Given the description of an element on the screen output the (x, y) to click on. 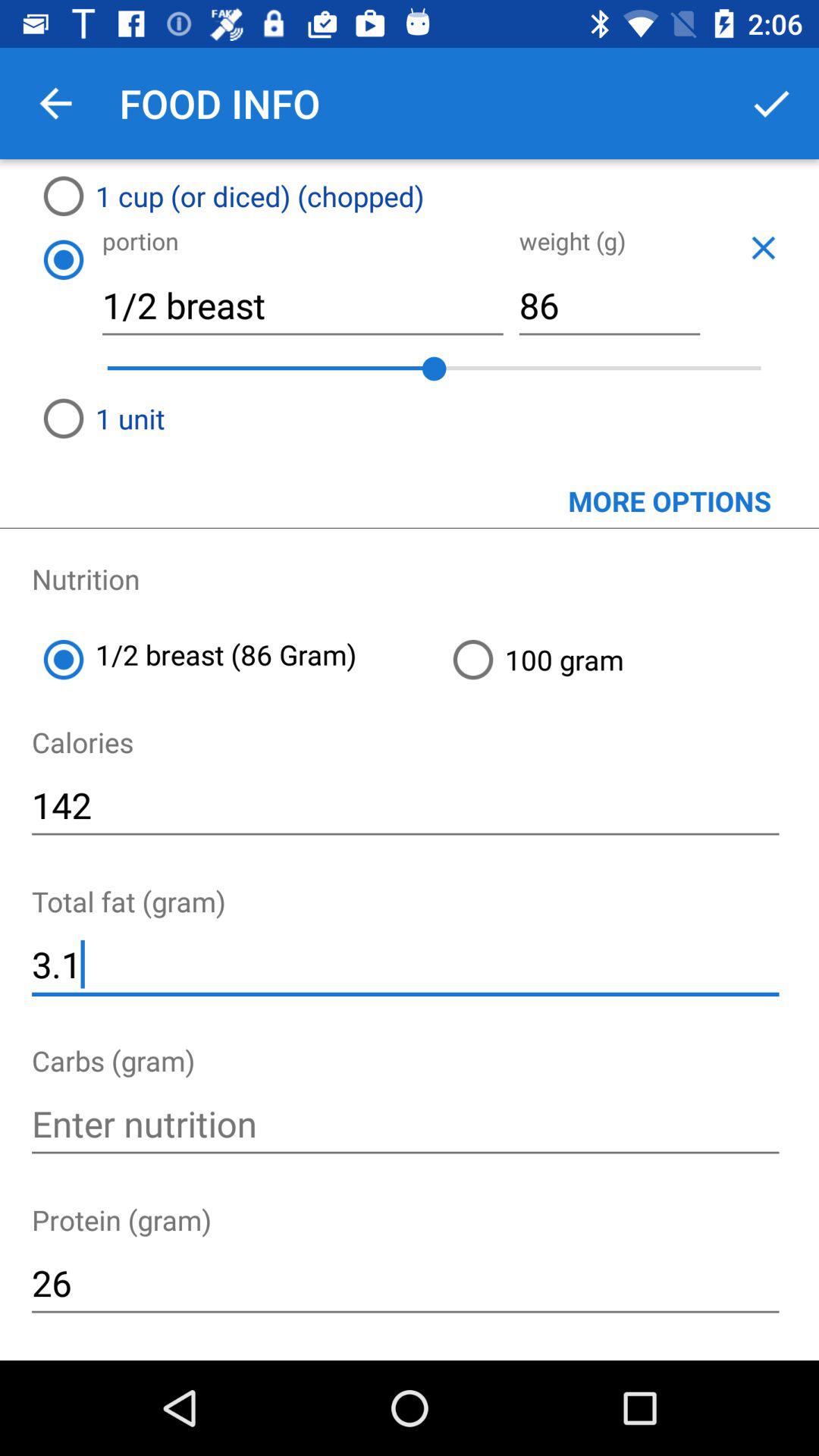
apply (771, 103)
